Given the description of an element on the screen output the (x, y) to click on. 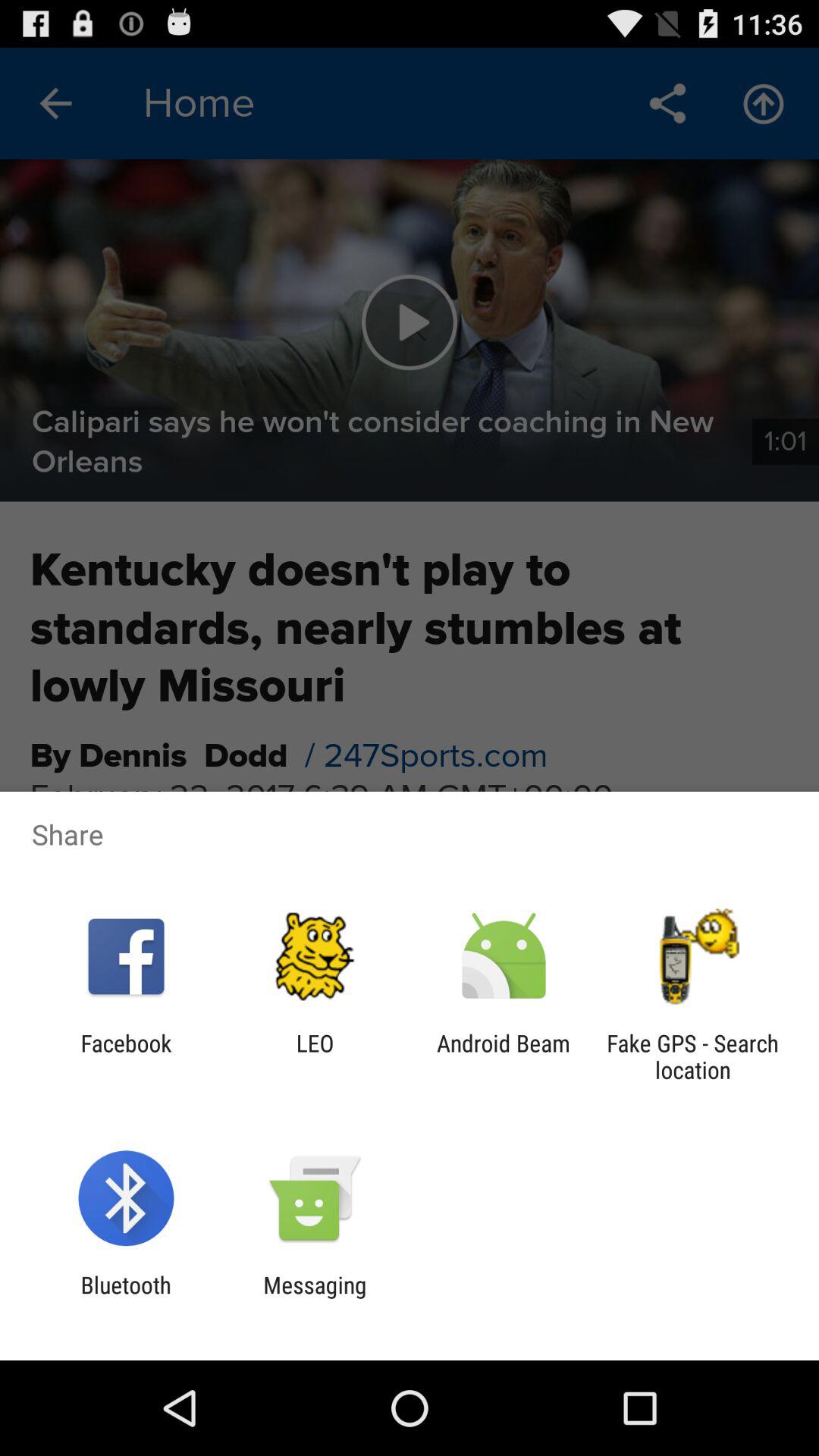
turn on app next to the android beam icon (314, 1056)
